Given the description of an element on the screen output the (x, y) to click on. 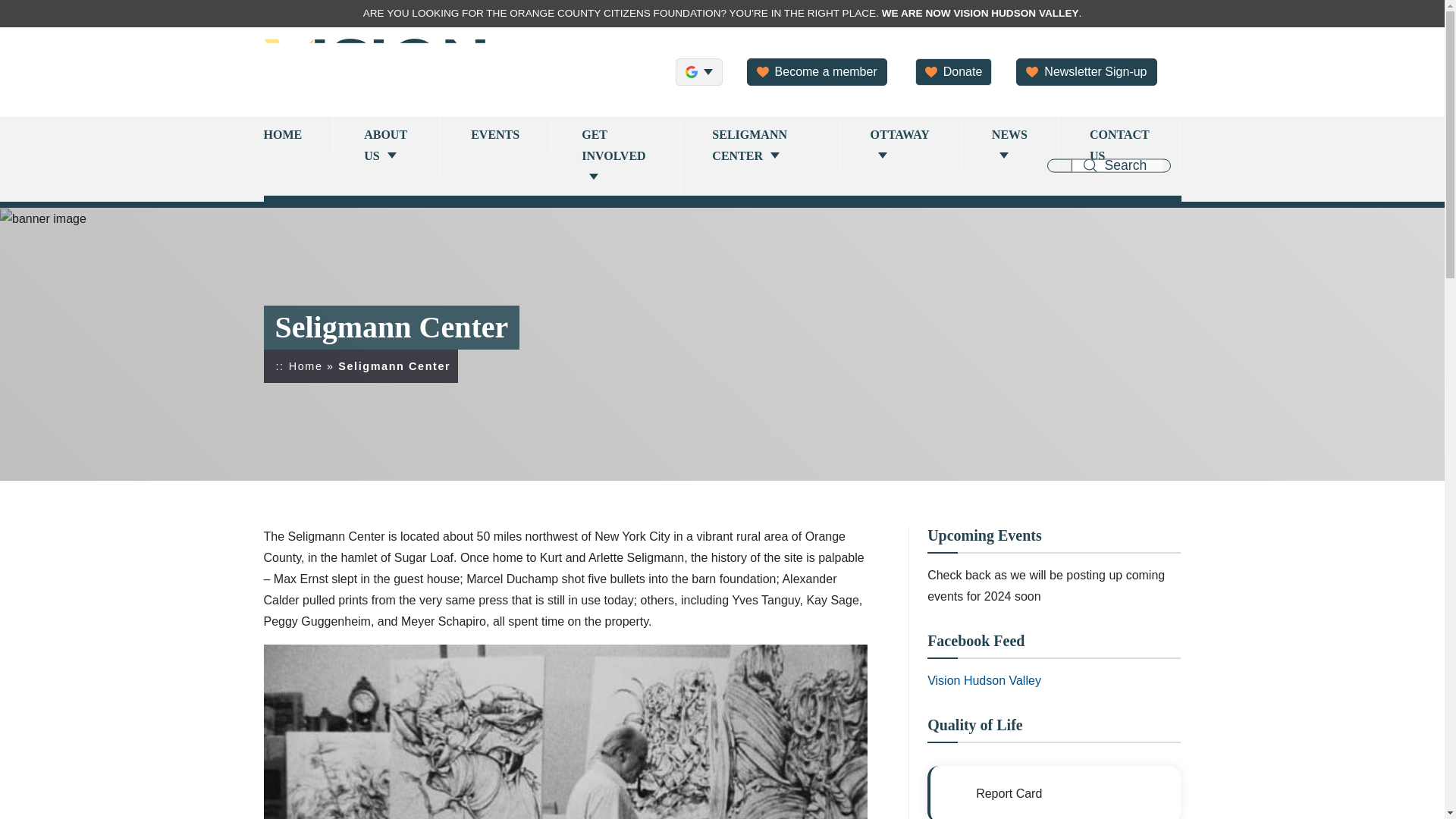
ABOUT US (387, 145)
Report Card (1053, 792)
EVENTS (496, 135)
GET INVOLVED (616, 156)
OTTAWAY (900, 145)
SELIGMANN CENTER (760, 145)
Become a member (816, 71)
NEWS (1009, 145)
Donate (953, 71)
Newsletter Sign-up (1086, 71)
HOME (298, 135)
Home (305, 366)
CONTACT US (1119, 145)
Vision Hudson Valley (984, 680)
